Given the description of an element on the screen output the (x, y) to click on. 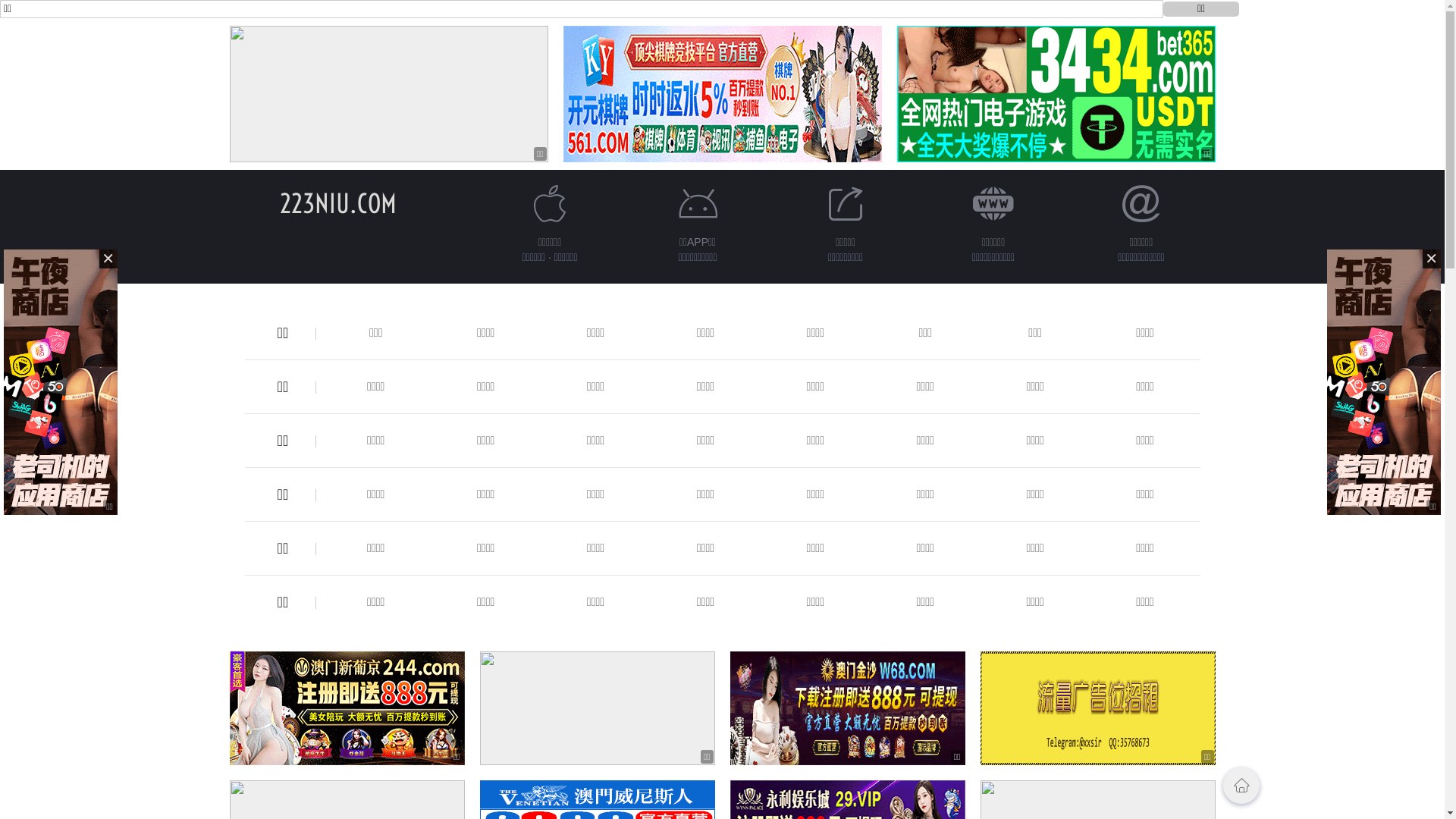
223NIU.COM Element type: text (337, 203)
